Given the description of an element on the screen output the (x, y) to click on. 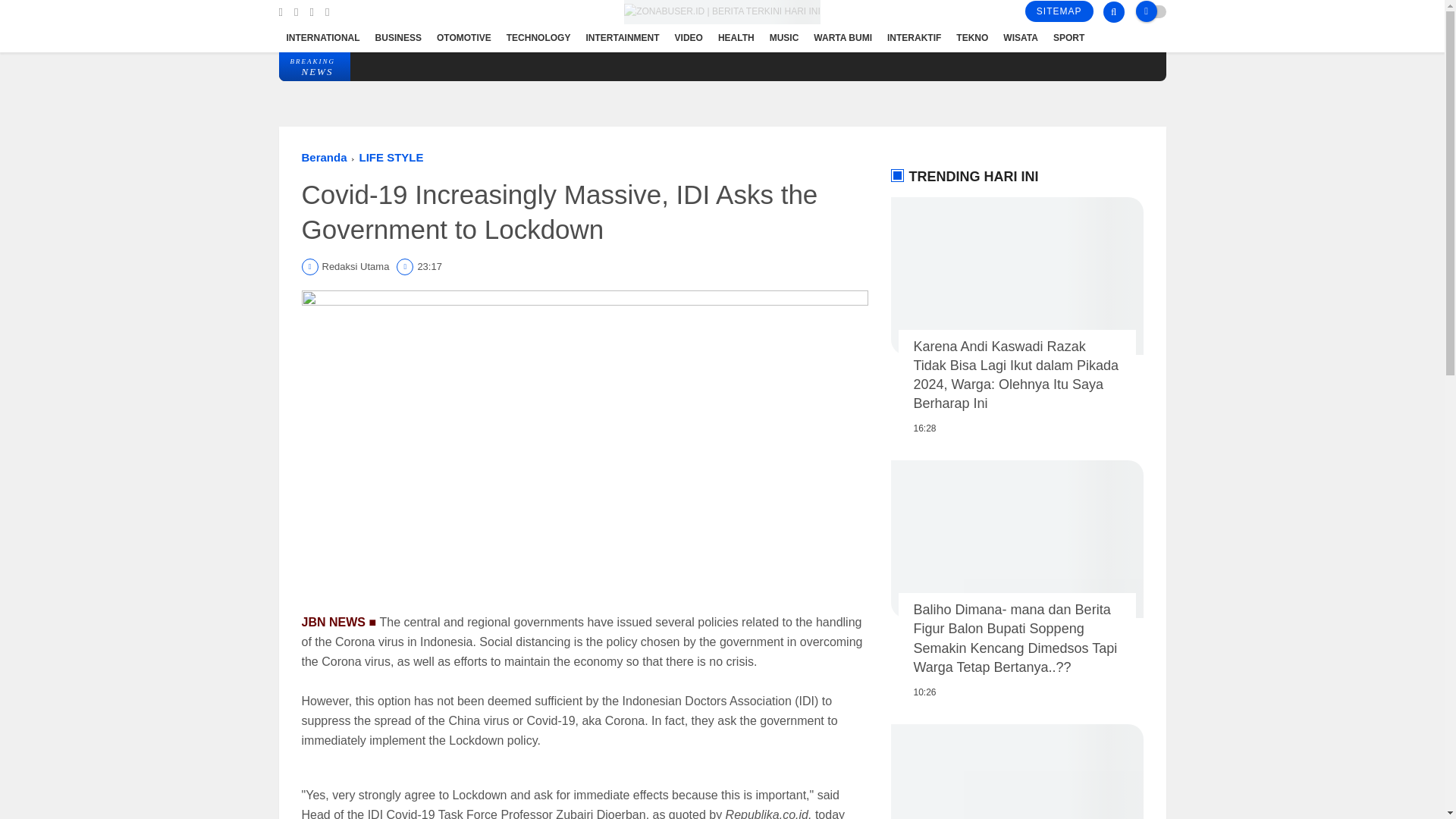
instagram (310, 11)
youtube (326, 11)
facebook (280, 11)
twitter (296, 11)
